Given the description of an element on the screen output the (x, y) to click on. 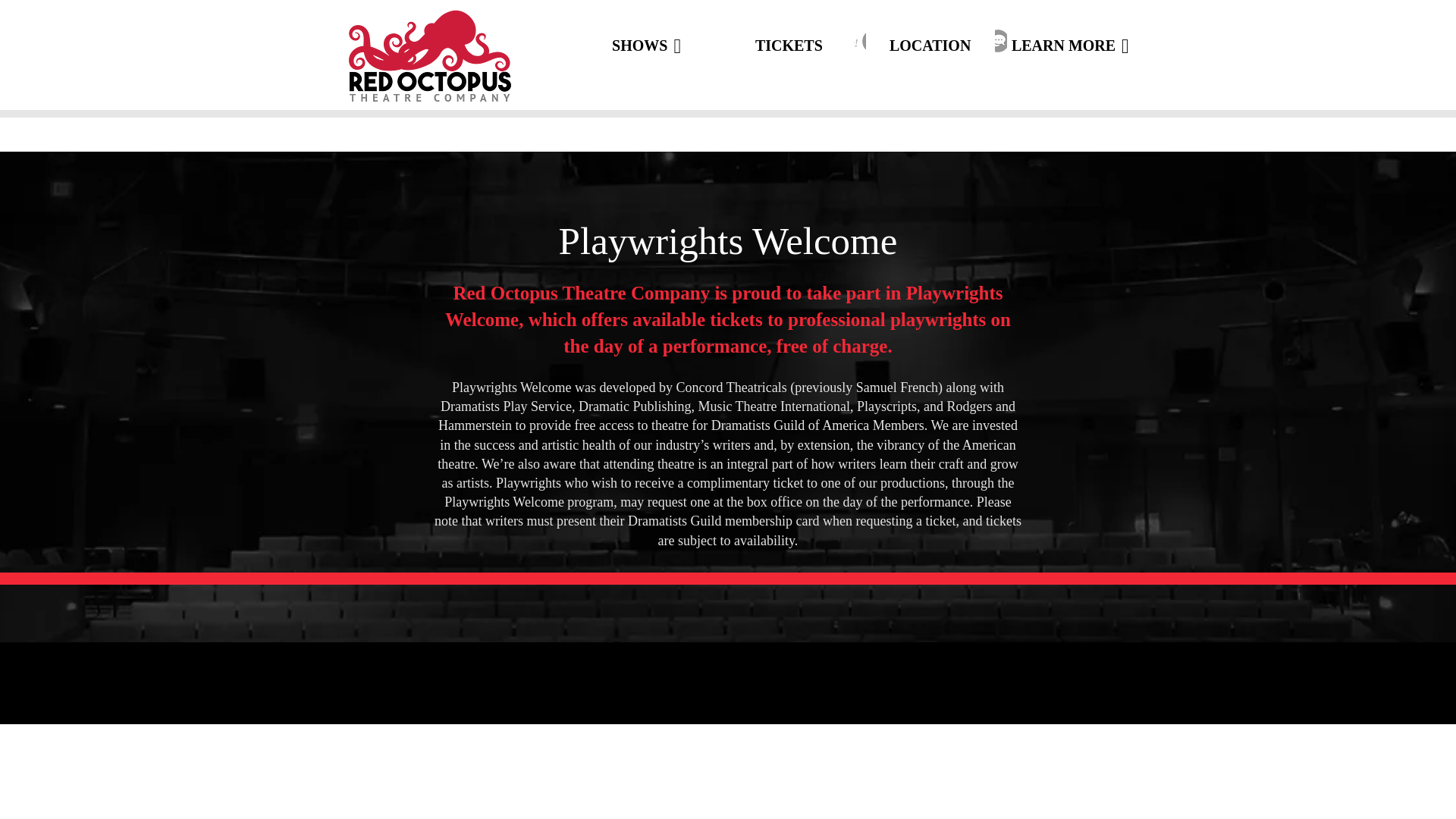
TICKETS (788, 45)
LEARN MORE (1071, 45)
LOCATION (930, 45)
SHOWS (647, 45)
